Given the description of an element on the screen output the (x, y) to click on. 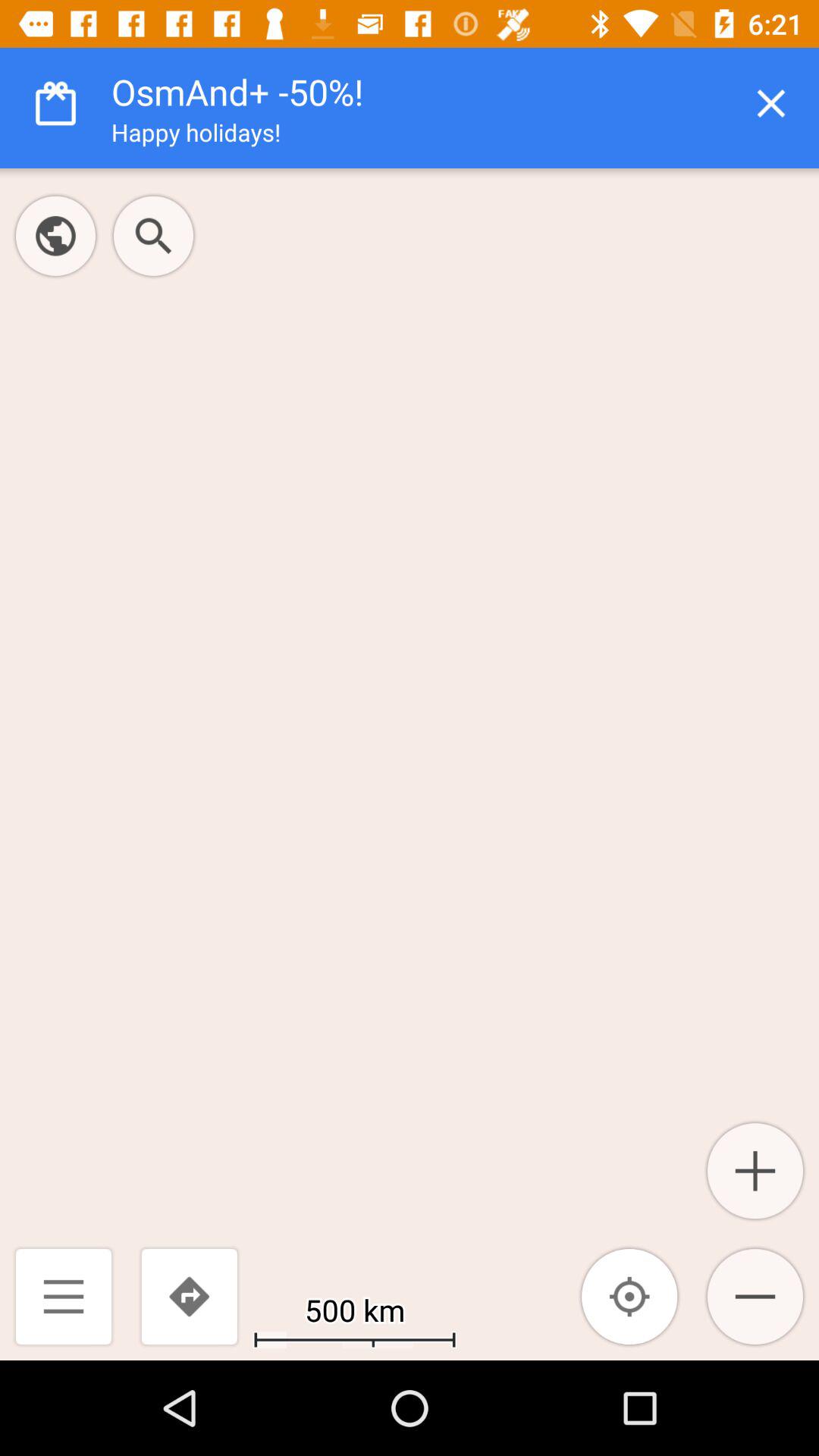
click item at the top right corner (771, 103)
